Given the description of an element on the screen output the (x, y) to click on. 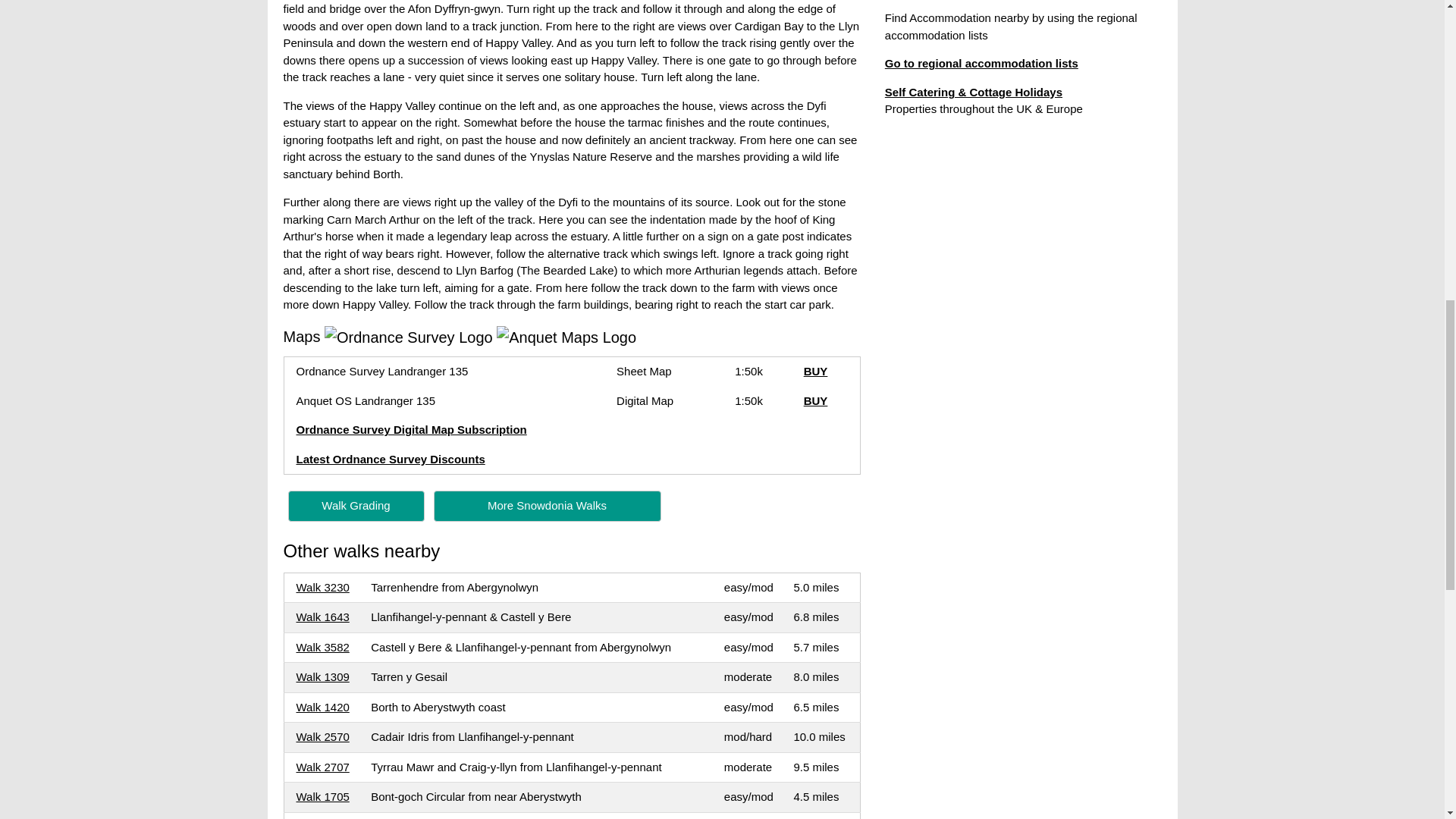
Ordnance Survey Digital Map Subscription (410, 429)
BUY (815, 370)
BUY (815, 400)
Walk Grading (356, 504)
Latest Ordnance Survey Discounts (389, 459)
Walk Grading (356, 505)
